Given the description of an element on the screen output the (x, y) to click on. 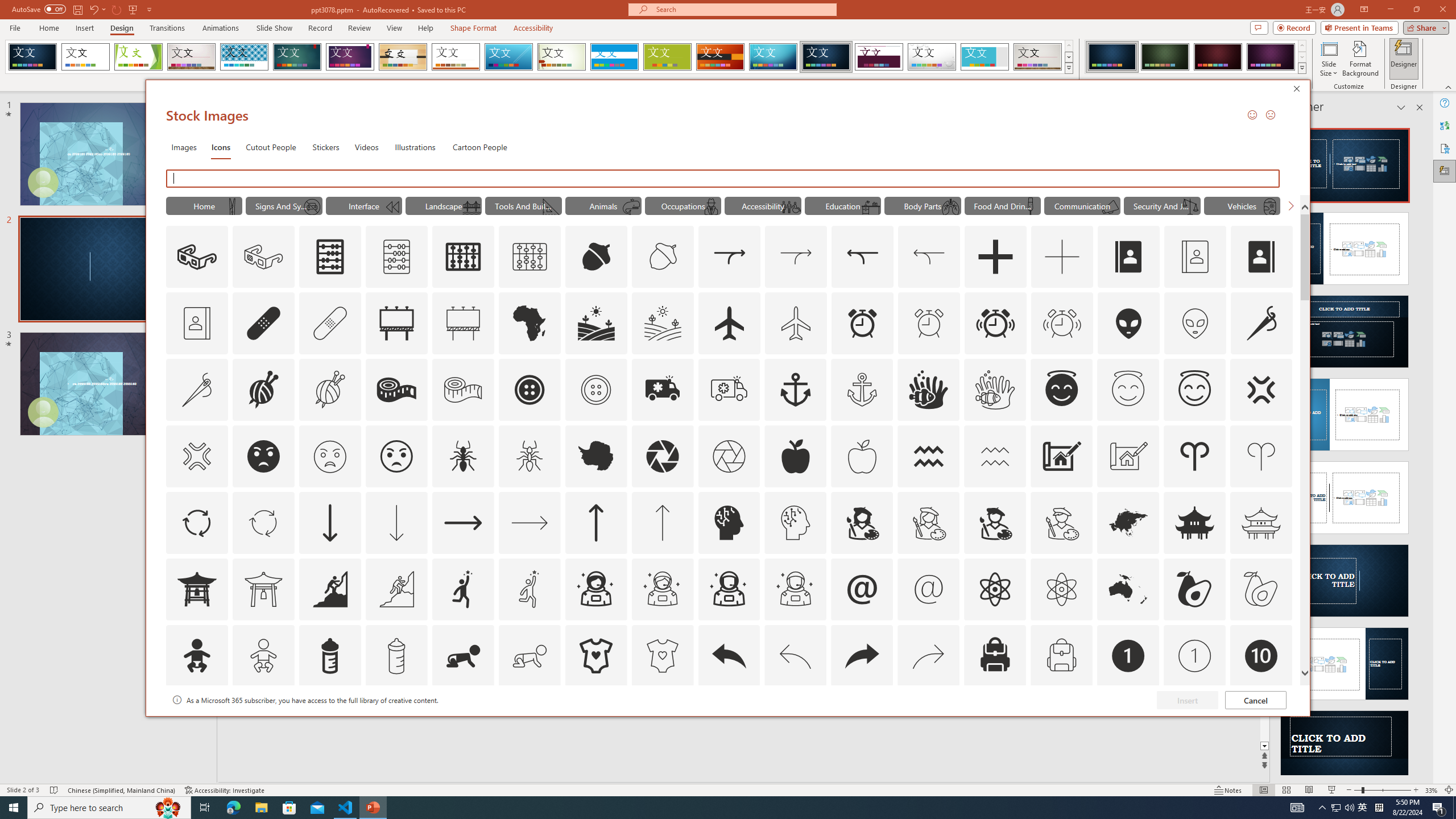
Damask (826, 56)
"Tools And Building" Icons. (523, 205)
AutomationID: Icons_Aspiration_M (395, 588)
"Communication" Icons. (1082, 205)
AutomationID: Icons_Ant (462, 455)
Frame (984, 56)
Slice (508, 56)
